Given the description of an element on the screen output the (x, y) to click on. 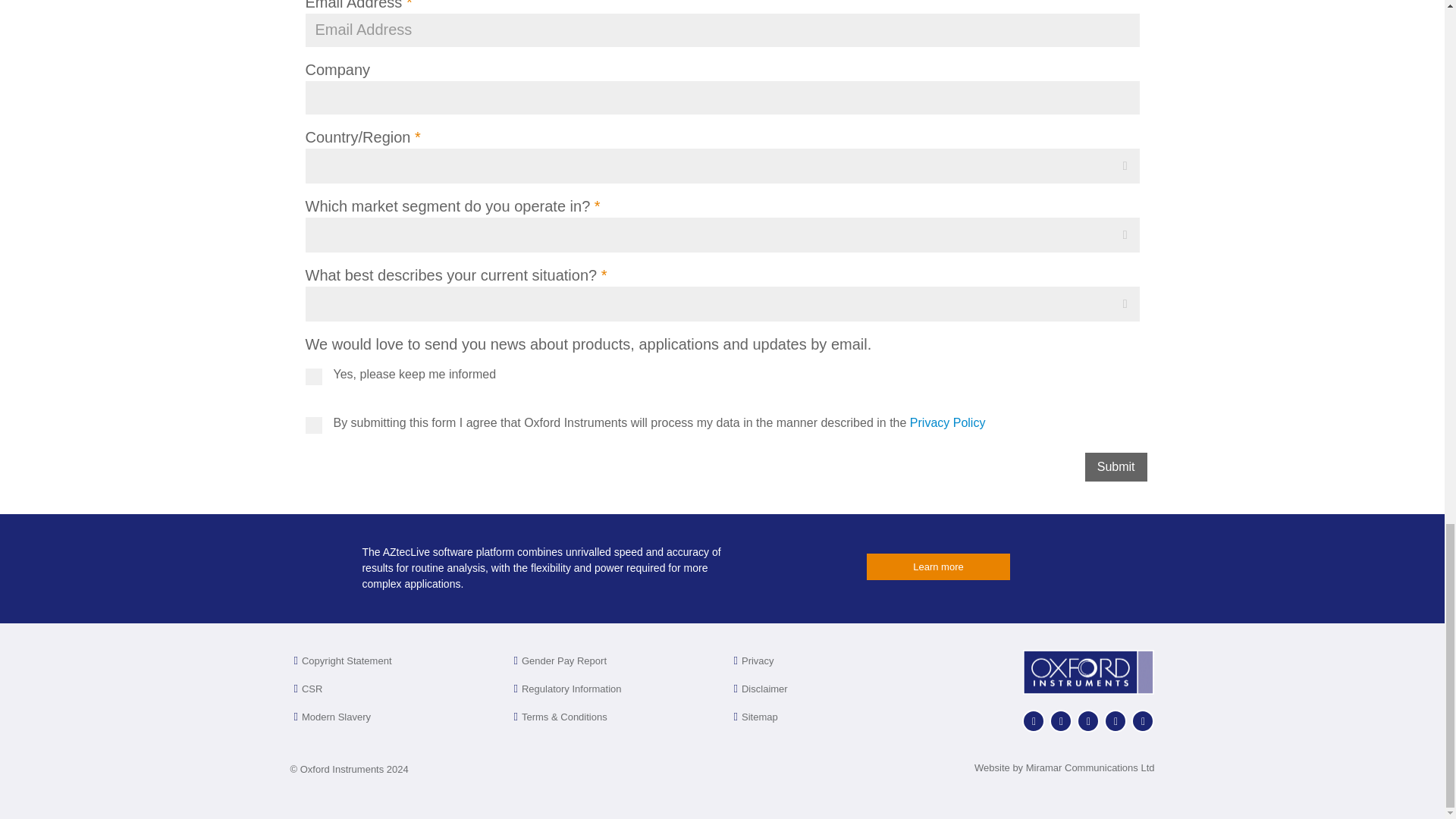
Email Address (721, 29)
Company (1115, 466)
